Given the description of an element on the screen output the (x, y) to click on. 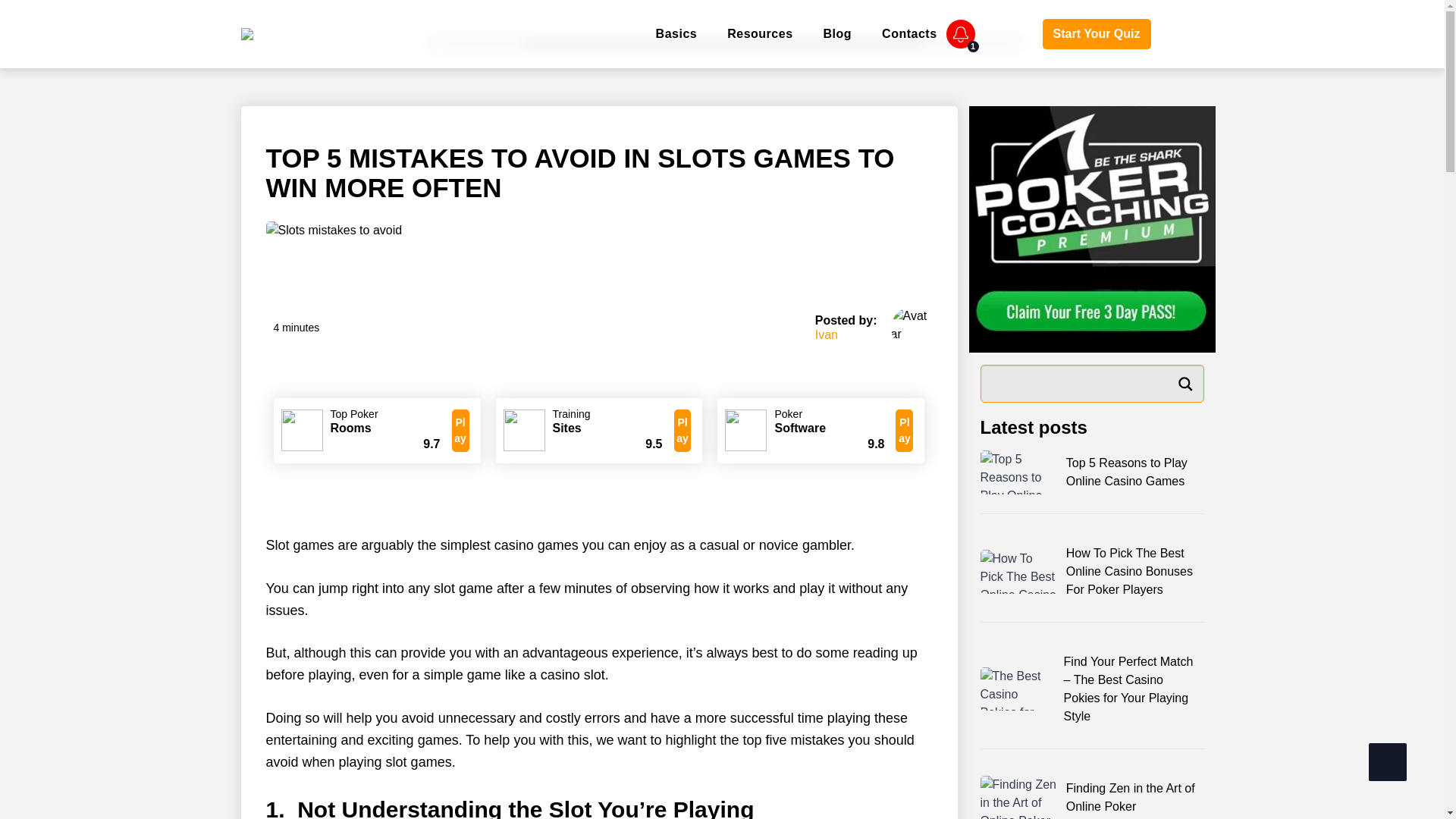
Blog (837, 33)
Basics (676, 33)
Search (1185, 383)
Start Your Quiz (1096, 33)
Resources (759, 33)
Ivan Potocki (826, 334)
Contacts (909, 33)
Login (1008, 34)
